Given the description of an element on the screen output the (x, y) to click on. 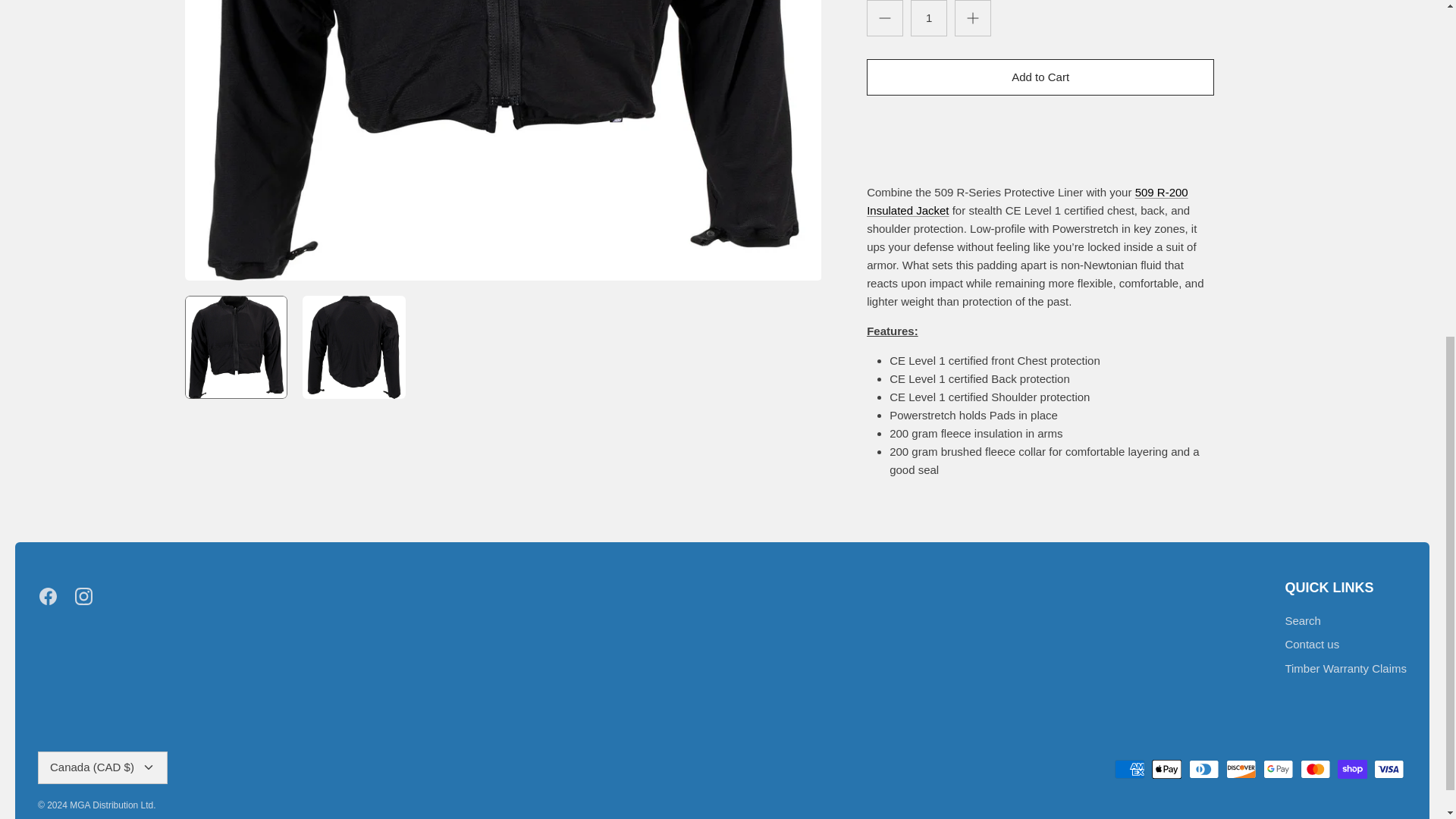
Shop Pay (1352, 769)
Visa (1388, 769)
Apple Pay (1166, 769)
Discover (1240, 769)
1 (929, 18)
Diners Club (1203, 769)
Google Pay (1277, 769)
American Express (1129, 769)
Instagram (84, 596)
Mastercard (1315, 769)
